Given the description of an element on the screen output the (x, y) to click on. 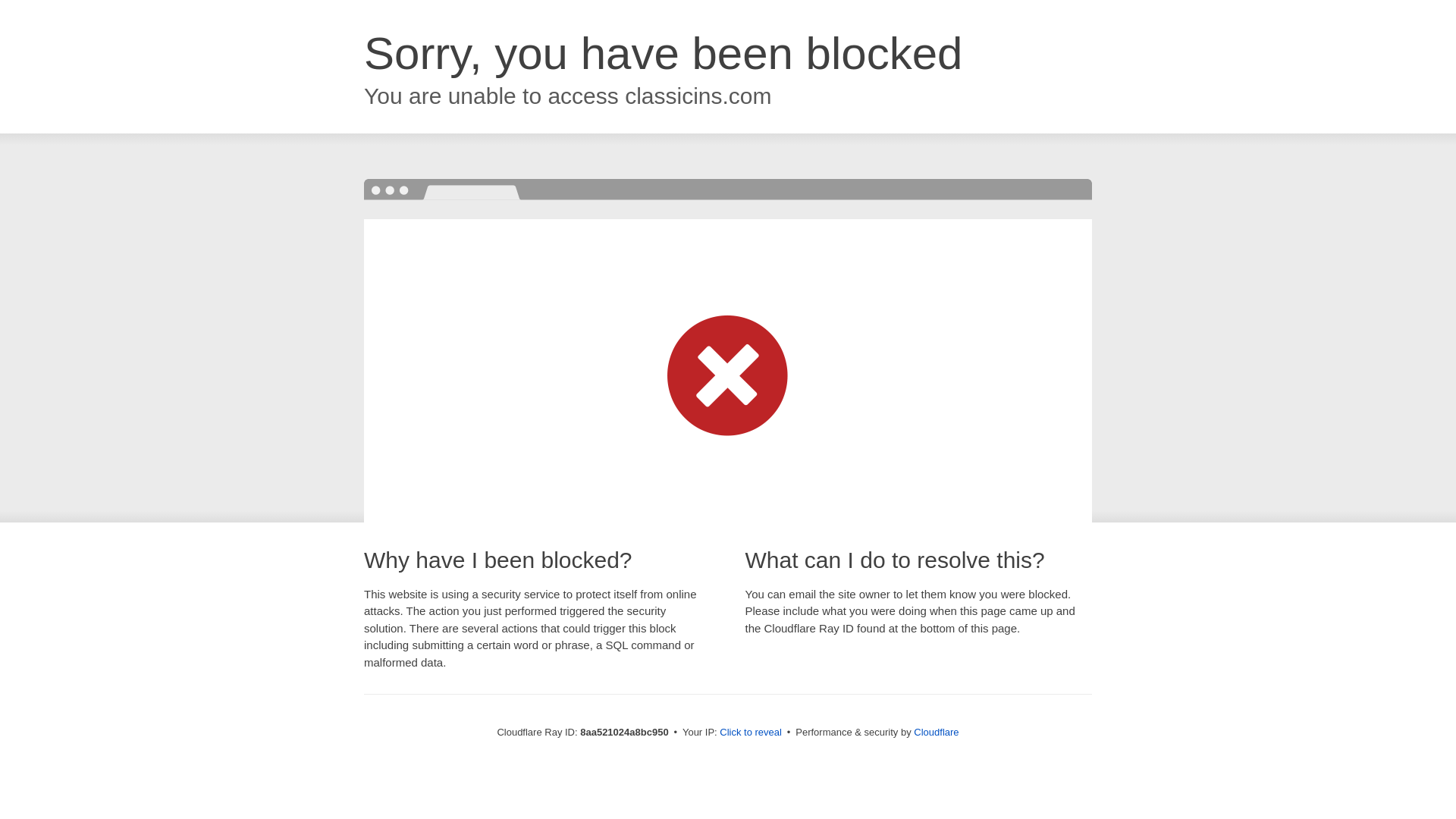
Cloudflare (936, 731)
Click to reveal (750, 732)
